Given the description of an element on the screen output the (x, y) to click on. 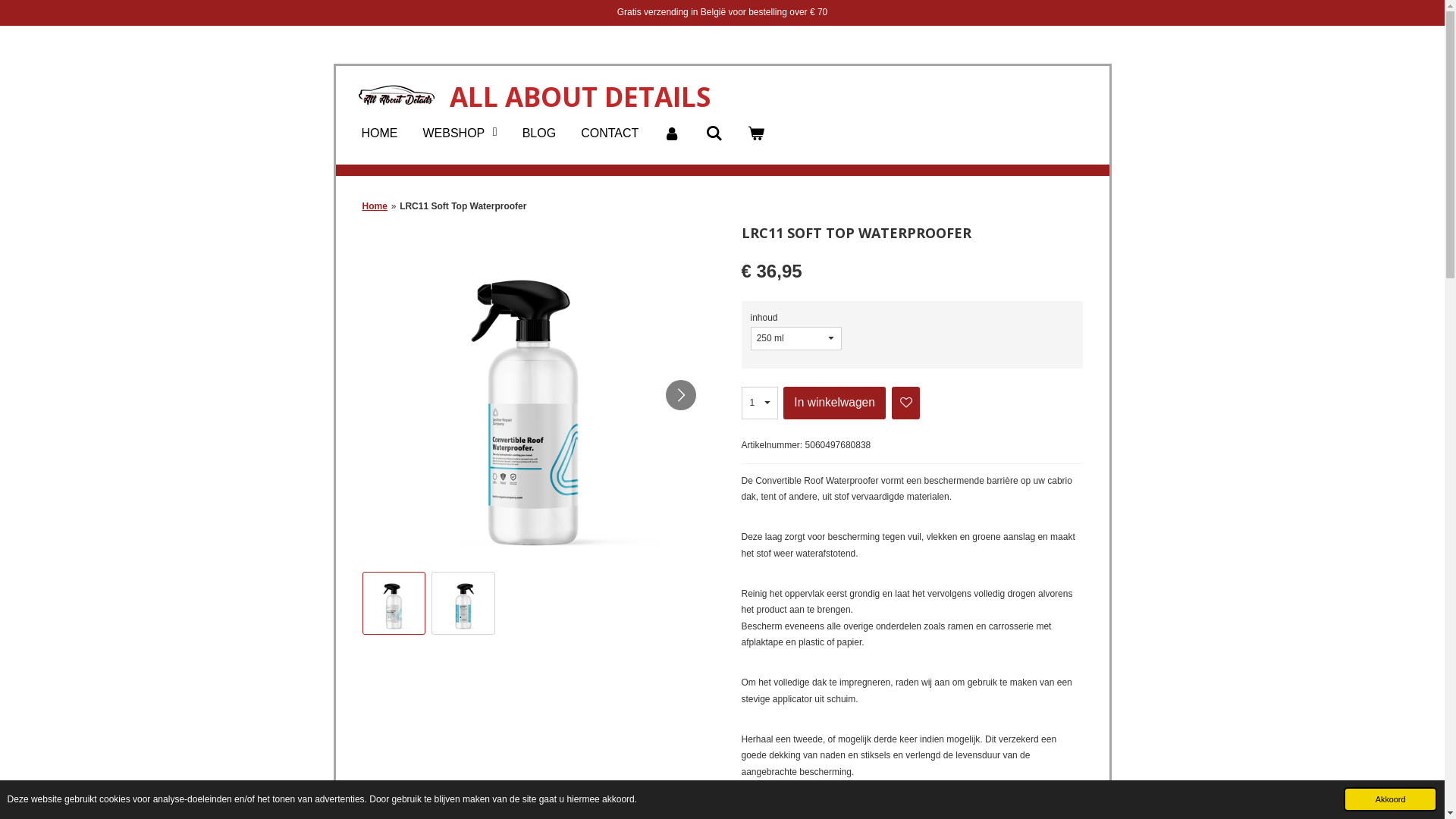
Akkoord Element type: text (1390, 799)
Home Element type: text (374, 205)
Zoeken Element type: hover (714, 133)
BLOG Element type: text (538, 133)
ALL ABOUT DETAILS Element type: text (578, 96)
LRC11 Soft Top Waterproofer Element type: text (462, 205)
In winkelwagen Element type: text (834, 403)
CONTACT Element type: text (609, 133)
WEBSHOP Element type: text (460, 133)
Toevoegen aan verlanglijst Element type: hover (905, 401)
Account Element type: hover (671, 133)
All About Details Element type: hover (395, 95)
HOME Element type: text (378, 133)
Bekijk winkelwagen Element type: hover (756, 133)
Toevoegen aan verlanglijst Element type: hover (905, 403)
